Given the description of an element on the screen output the (x, y) to click on. 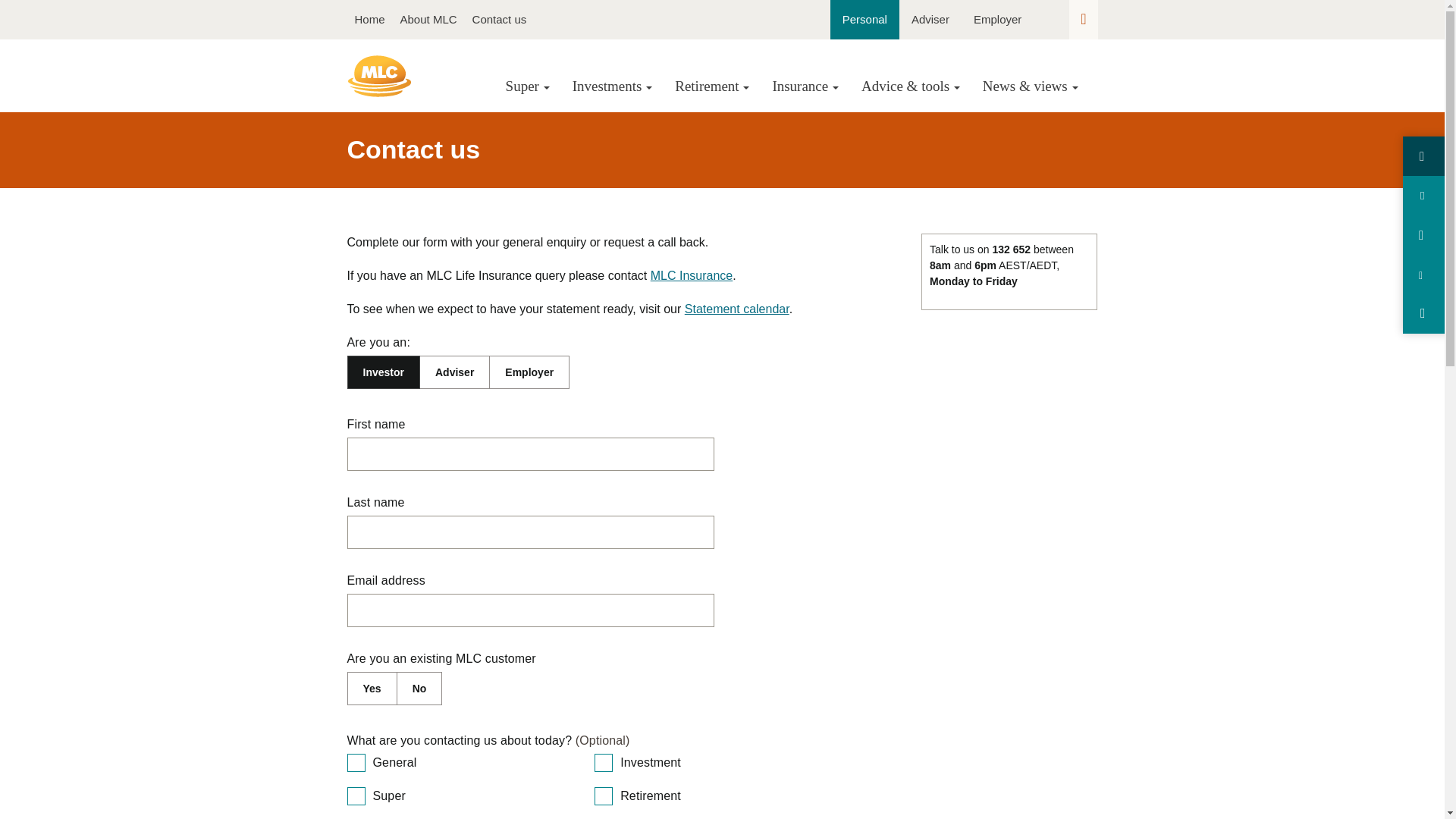
Adviser (929, 19)
Personal (864, 19)
MLC (378, 76)
Employer (996, 19)
Contact us (499, 19)
Super (527, 85)
Home (370, 19)
About MLC (428, 19)
